Given the description of an element on the screen output the (x, y) to click on. 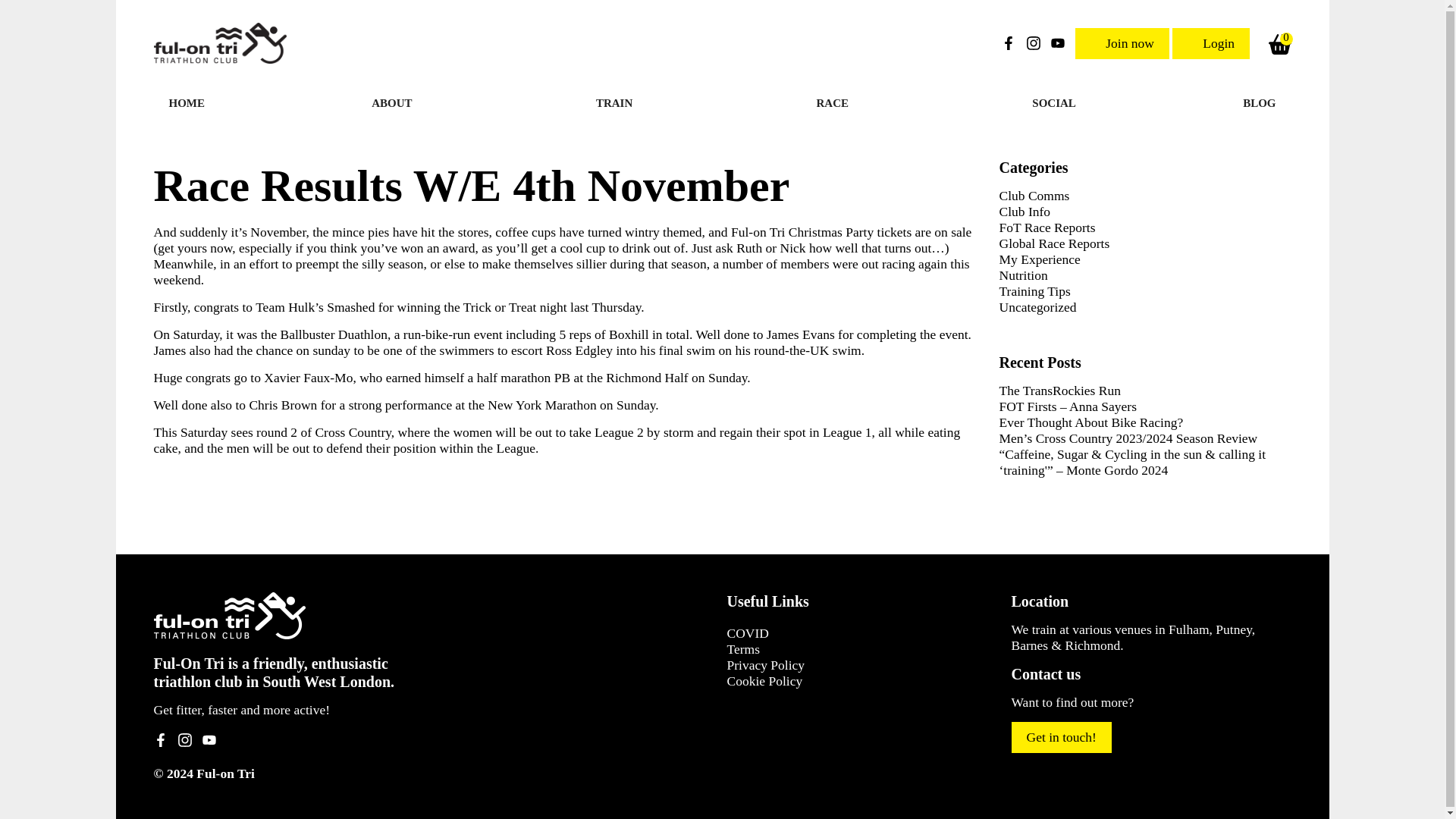
RACE (841, 103)
ABOUT (400, 103)
HOME (185, 103)
SOCIAL (1053, 103)
0 (1279, 44)
Login (1210, 42)
Club Comms (1034, 195)
Join now (1122, 42)
Club Info (1024, 211)
TRAIN (621, 103)
Global Race Reports (1053, 242)
FoT Race Reports (1047, 227)
BLOG (1258, 103)
